Given the description of an element on the screen output the (x, y) to click on. 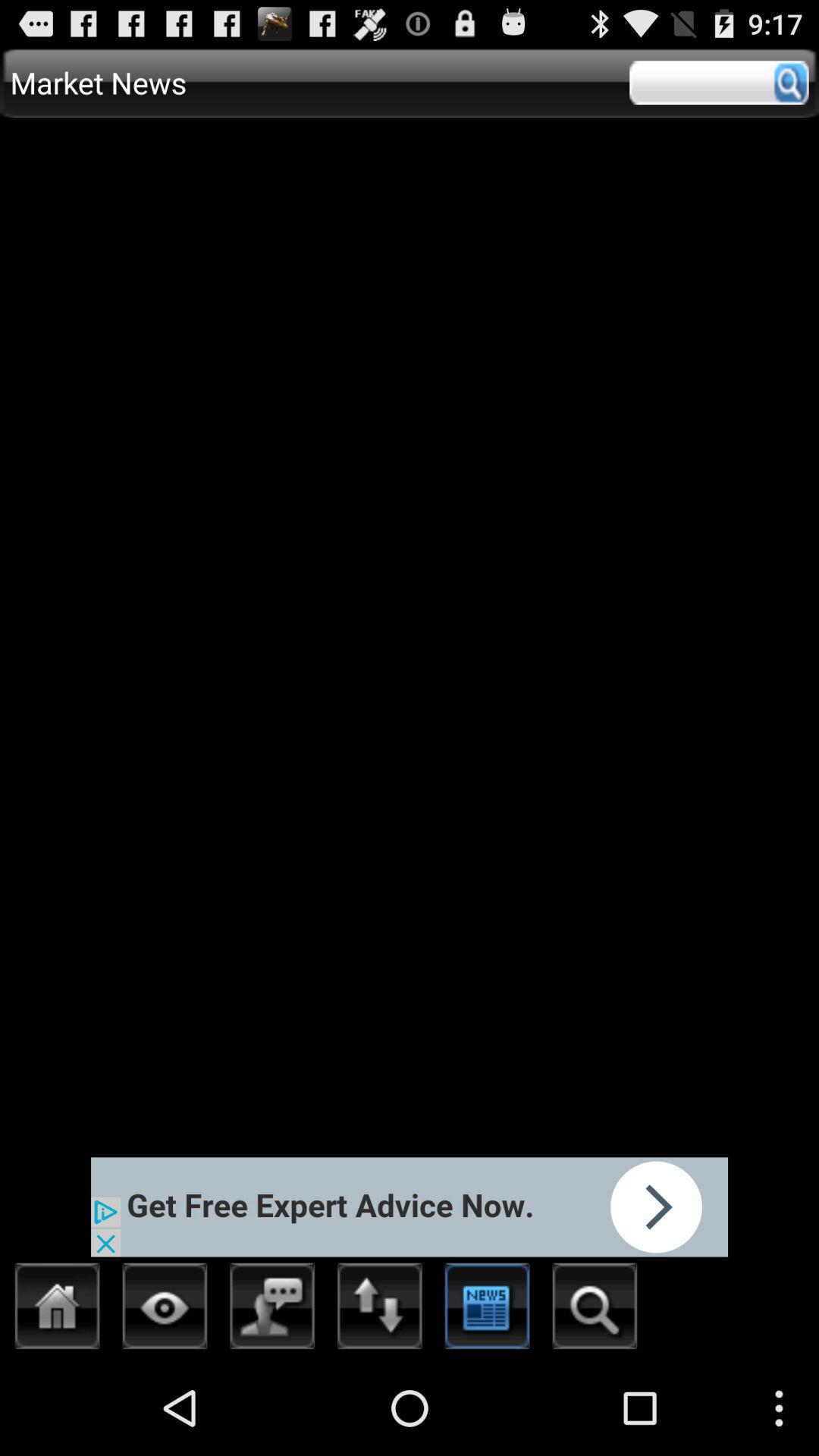
search button (594, 1310)
